Given the description of an element on the screen output the (x, y) to click on. 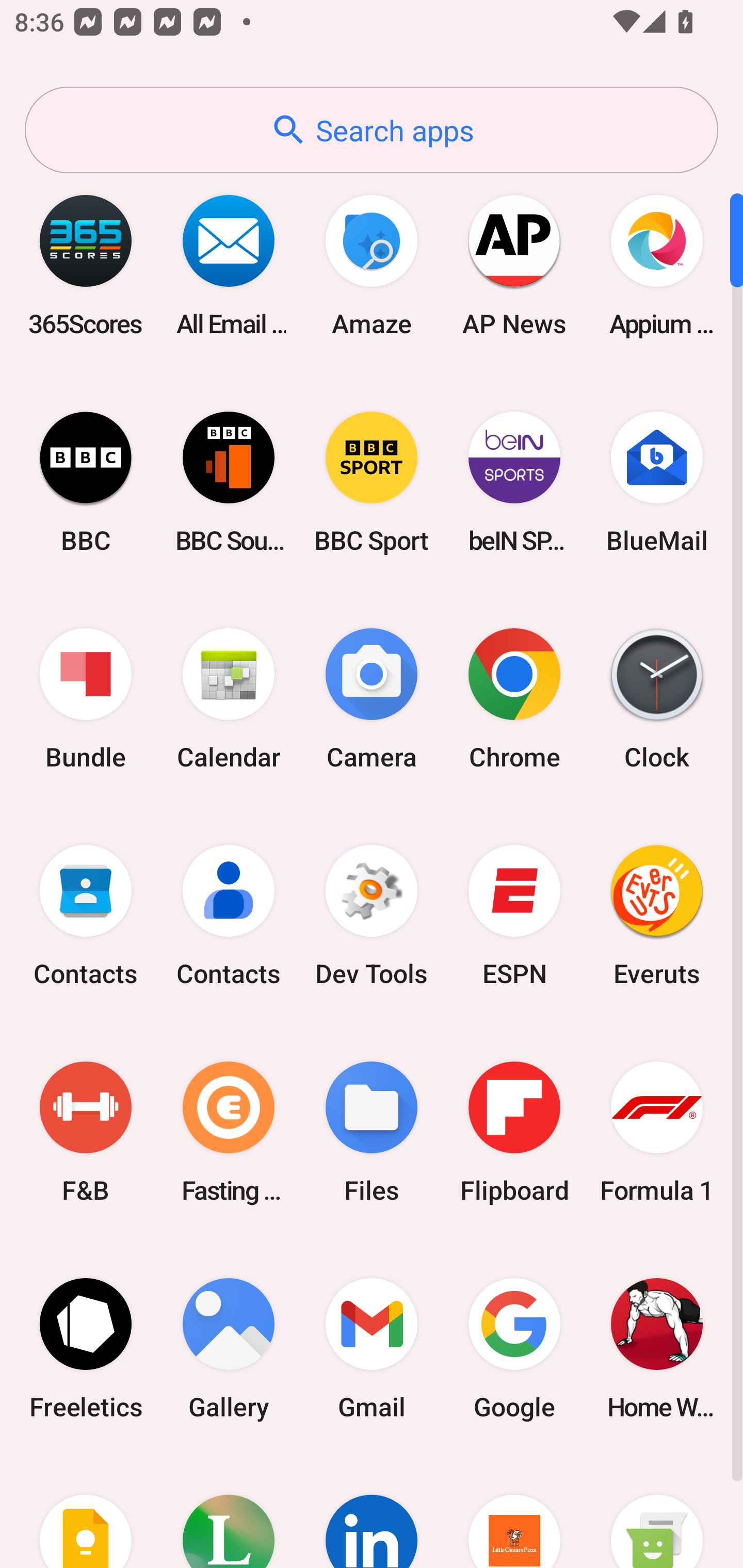
  Search apps (371, 130)
365Scores (85, 264)
All Email Connect (228, 264)
Amaze (371, 264)
AP News (514, 264)
Appium Settings (656, 264)
BBC (85, 482)
BBC Sounds (228, 482)
BBC Sport (371, 482)
beIN SPORTS (514, 482)
BlueMail (656, 482)
Bundle (85, 699)
Calendar (228, 699)
Camera (371, 699)
Chrome (514, 699)
Clock (656, 699)
Contacts (85, 915)
Contacts (228, 915)
Dev Tools (371, 915)
ESPN (514, 915)
Everuts (656, 915)
F&B (85, 1131)
Fasting Coach (228, 1131)
Files (371, 1131)
Flipboard (514, 1131)
Formula 1 (656, 1131)
Freeletics (85, 1348)
Gallery (228, 1348)
Gmail (371, 1348)
Google (514, 1348)
Home Workout (656, 1348)
Keep Notes (85, 1512)
Lifesum (228, 1512)
LinkedIn (371, 1512)
Little Caesars Pizza (514, 1512)
Messaging (656, 1512)
